Given the description of an element on the screen output the (x, y) to click on. 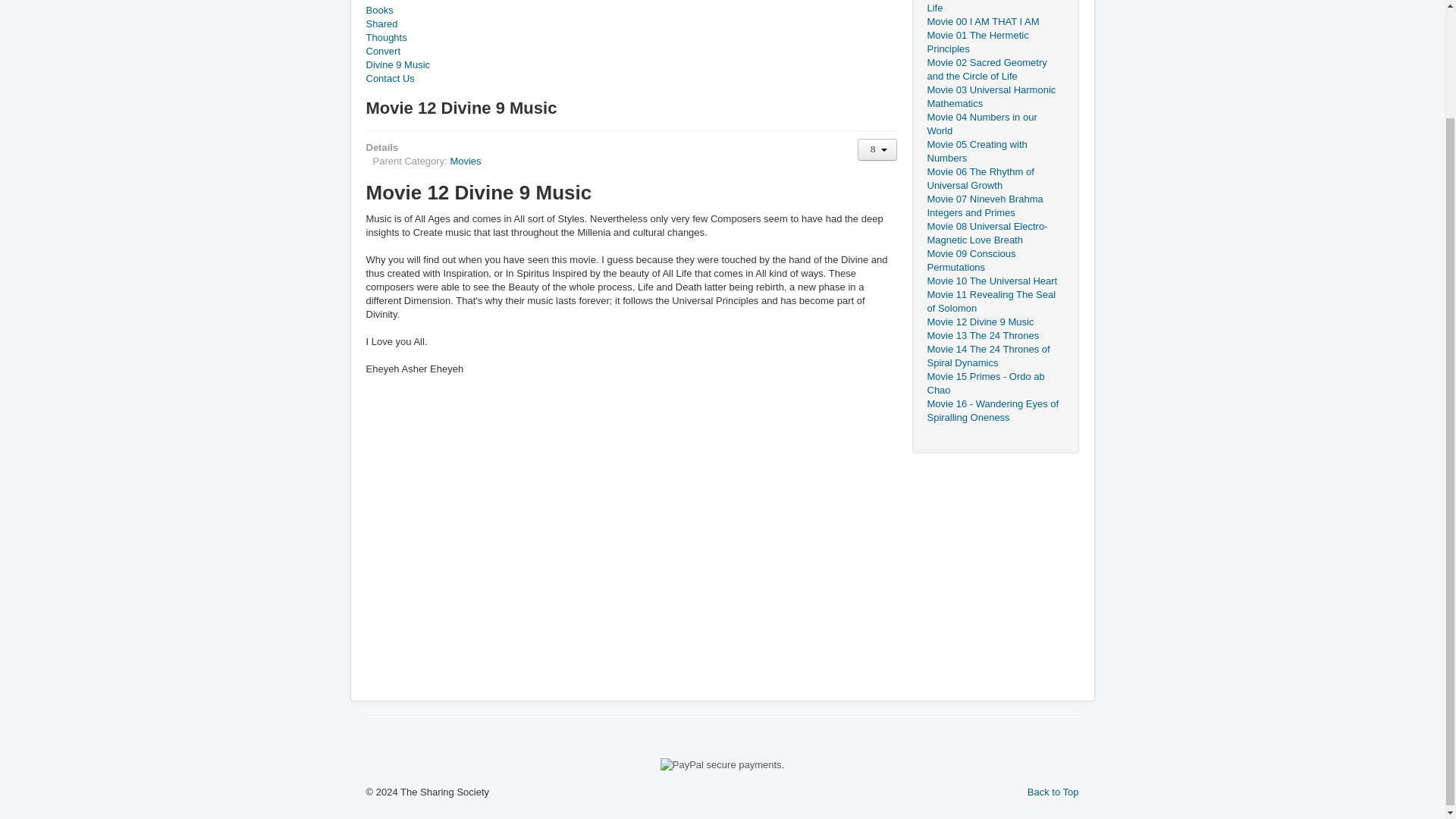
Movie 00 I AM THAT I AM (994, 21)
Movie 16 - Wandering Eyes of Spiralling Oneness (994, 411)
Movie 14 The 24 Thrones of Spiral Dynamics (994, 356)
Movie 01 The Hermetic Principles (994, 42)
Movie 10 The Universal  Heart (478, 191)
Convert (630, 51)
Shared (630, 24)
Movie 06 The Rhythm of Universal Growth (994, 178)
Movies (464, 161)
Movie 13 The 24 Thrones (994, 336)
Contact Us (630, 78)
Movie 02 Sacred Geometry and the Circle of Life (994, 69)
Movie 05 Creating with Numbers (994, 151)
Movie 15 Primes - Ordo ab Chao (994, 383)
